Given the description of an element on the screen output the (x, y) to click on. 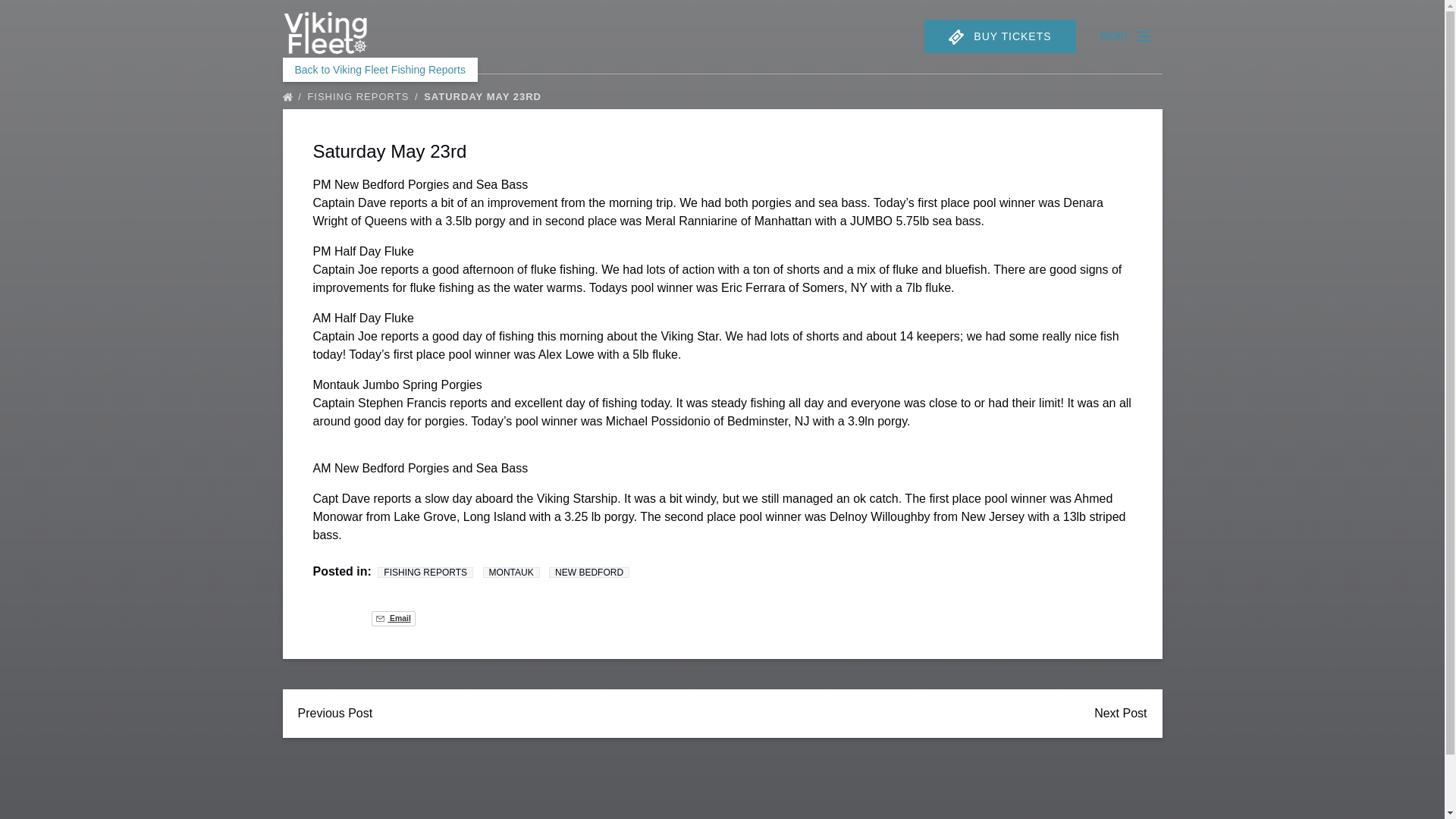
TICKET (956, 37)
MONTAUK (511, 572)
FISHING REPORTS (363, 96)
SATURDAY MAY 23RD (485, 96)
FISHING REPORTS (425, 572)
TICKET BUY TICKETS (999, 36)
Skip to content (47, 16)
Back to Viking Fleet Fishing Reports (379, 69)
MENU (1125, 36)
Skip to primary navigation (77, 16)
